Given the description of an element on the screen output the (x, y) to click on. 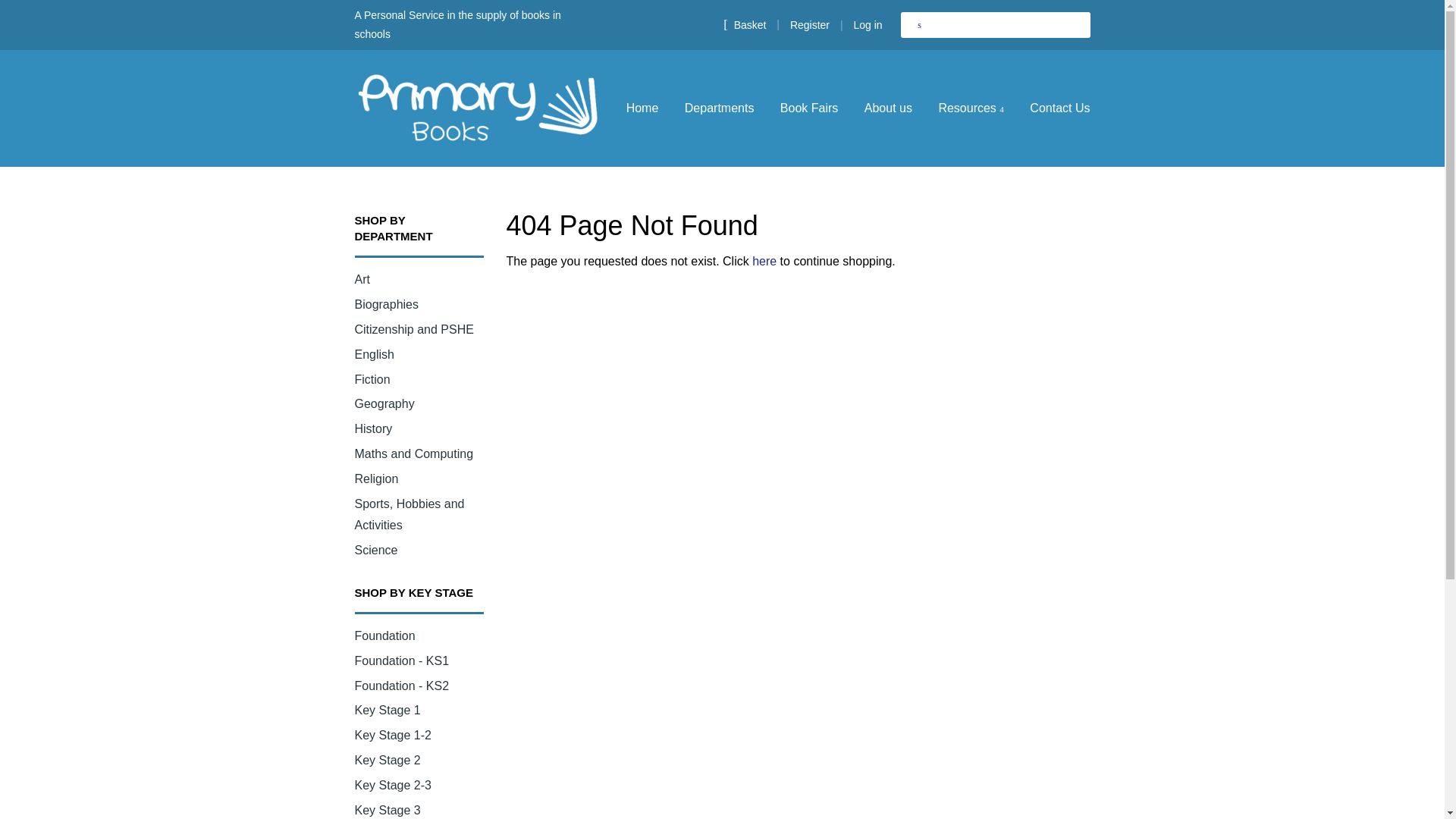
SEARCH (920, 24)
Basket (744, 24)
Home (647, 108)
Key Stage 1 (387, 709)
Log in (867, 24)
Geography (384, 403)
History (374, 428)
English (374, 354)
Religion (376, 478)
Foundation - KS1 (402, 660)
Resources (970, 108)
Art (362, 278)
Key Stage 1-2 (392, 735)
Foundation (384, 635)
Key Stage 1 (387, 709)
